Given the description of an element on the screen output the (x, y) to click on. 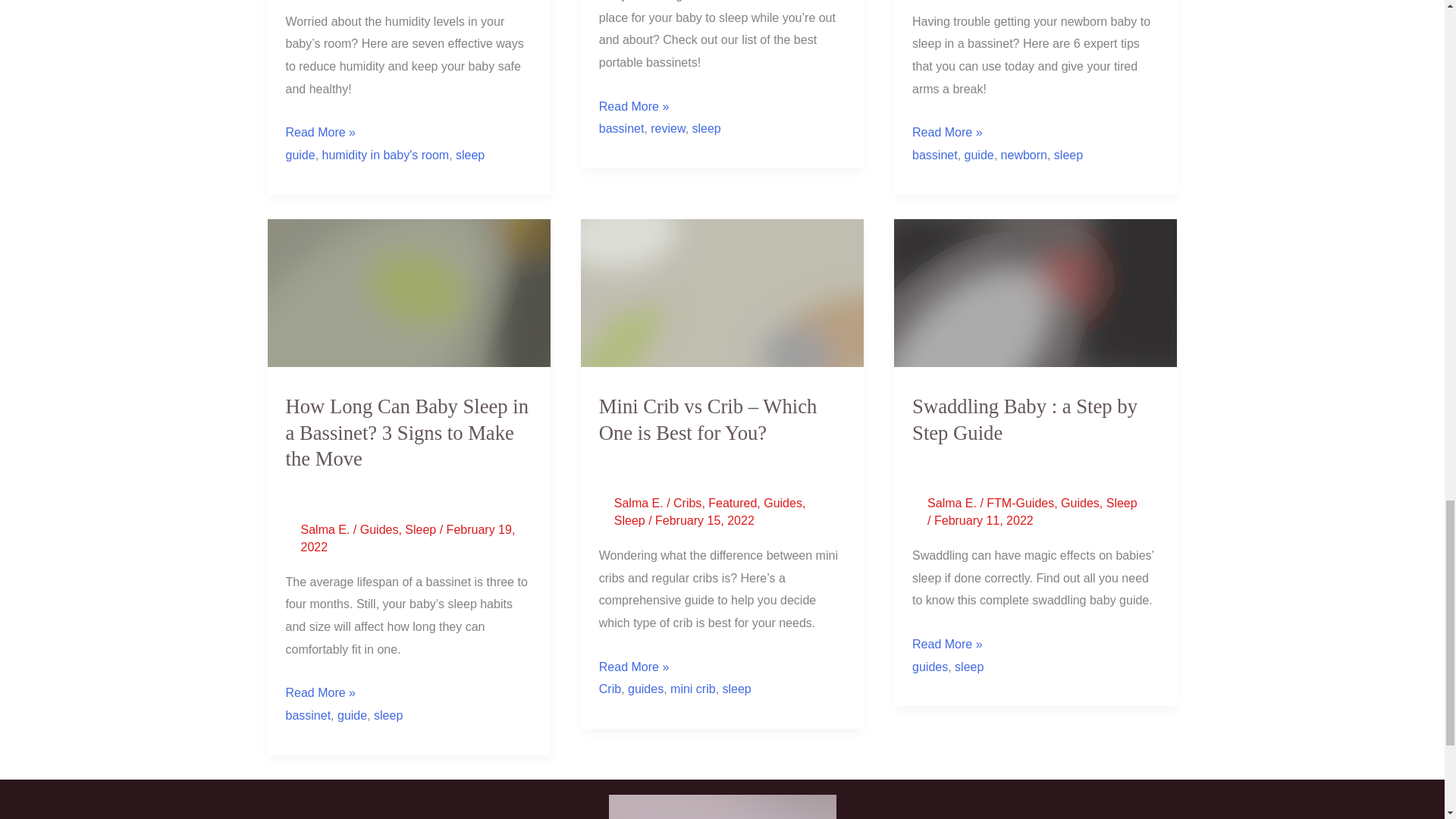
View all posts by Salma E. (325, 529)
View all posts by Salma E. (640, 502)
View all posts by Salma E. (953, 502)
